Given the description of an element on the screen output the (x, y) to click on. 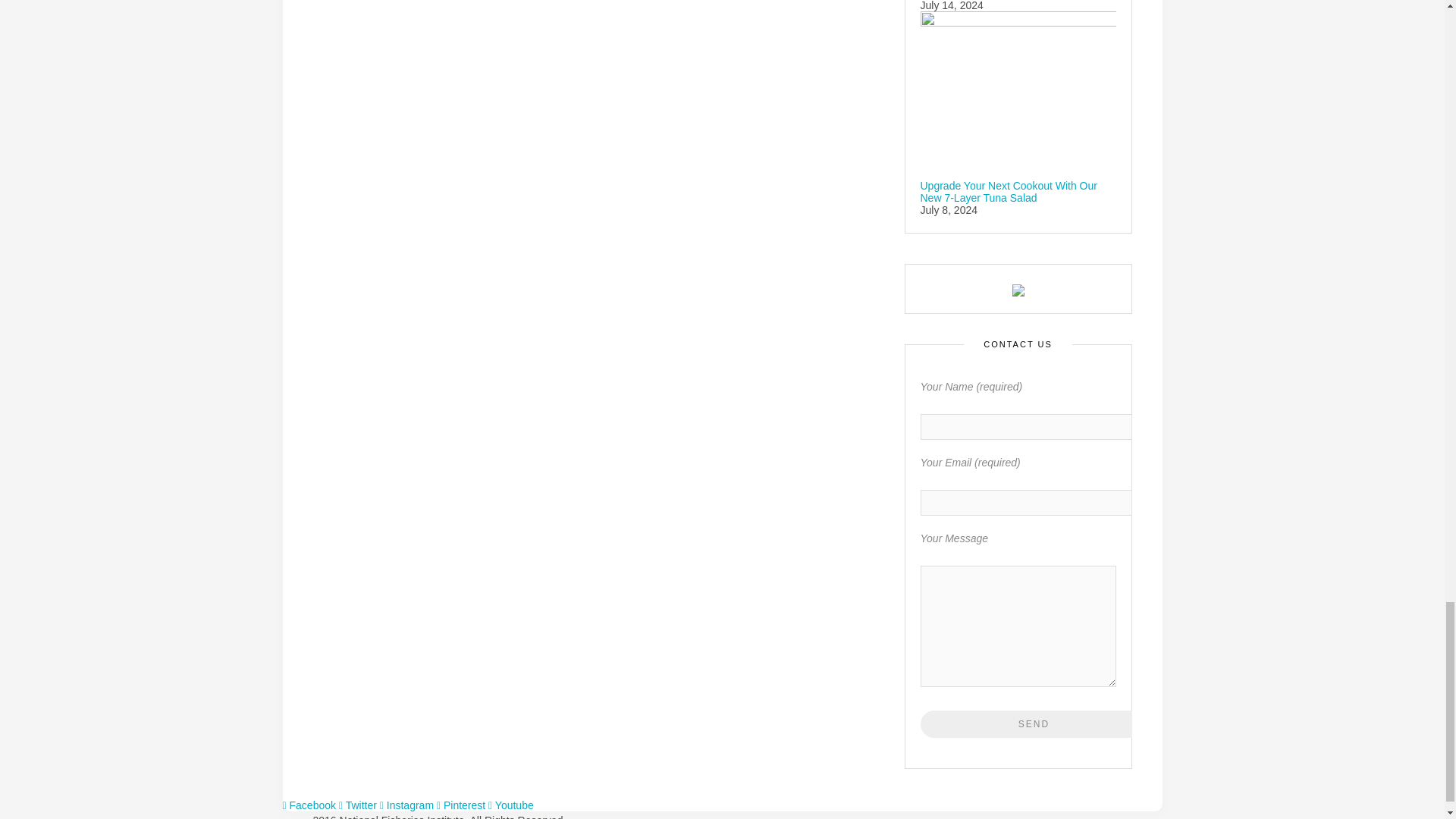
Send (1034, 723)
Seafood blogs (1017, 288)
